Given the description of an element on the screen output the (x, y) to click on. 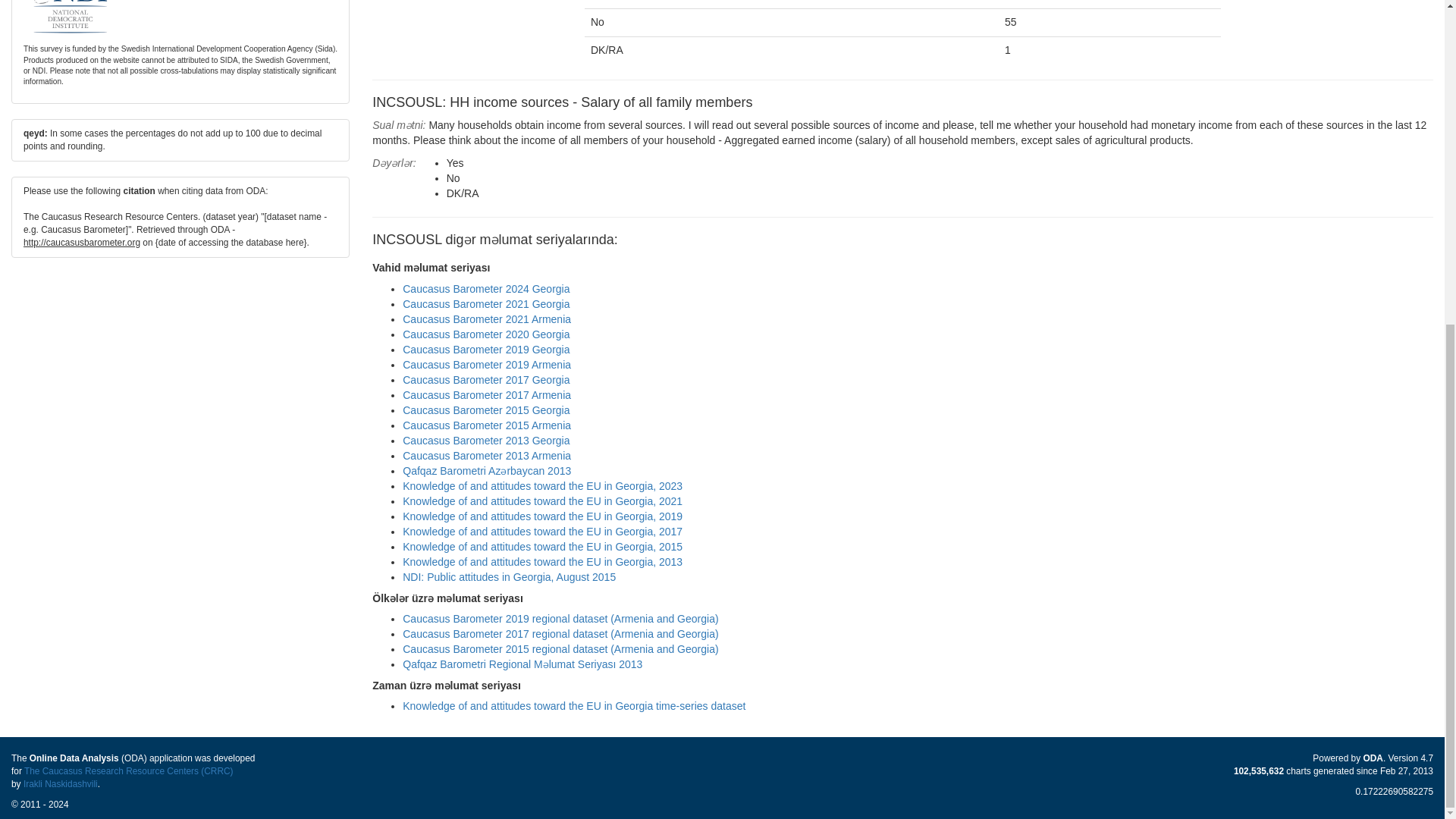
Caucasus Barometer 2021 Armenia (486, 318)
Caucasus Barometer 2019 Armenia (486, 364)
Caucasus Barometer 2013 Armenia (486, 455)
Caucasus Barometer 2013 Georgia (486, 440)
Knowledge of and attitudes toward the EU in Georgia, 2017 (542, 531)
Caucasus Barometer 2019 Georgia (486, 349)
Caucasus Barometer 2015 Georgia (486, 410)
Caucasus Barometer 2020 Georgia (486, 334)
Knowledge of and attitudes toward the EU in Georgia, 2013 (542, 562)
Knowledge of and attitudes toward the EU in Georgia, 2019 (542, 516)
